Given the description of an element on the screen output the (x, y) to click on. 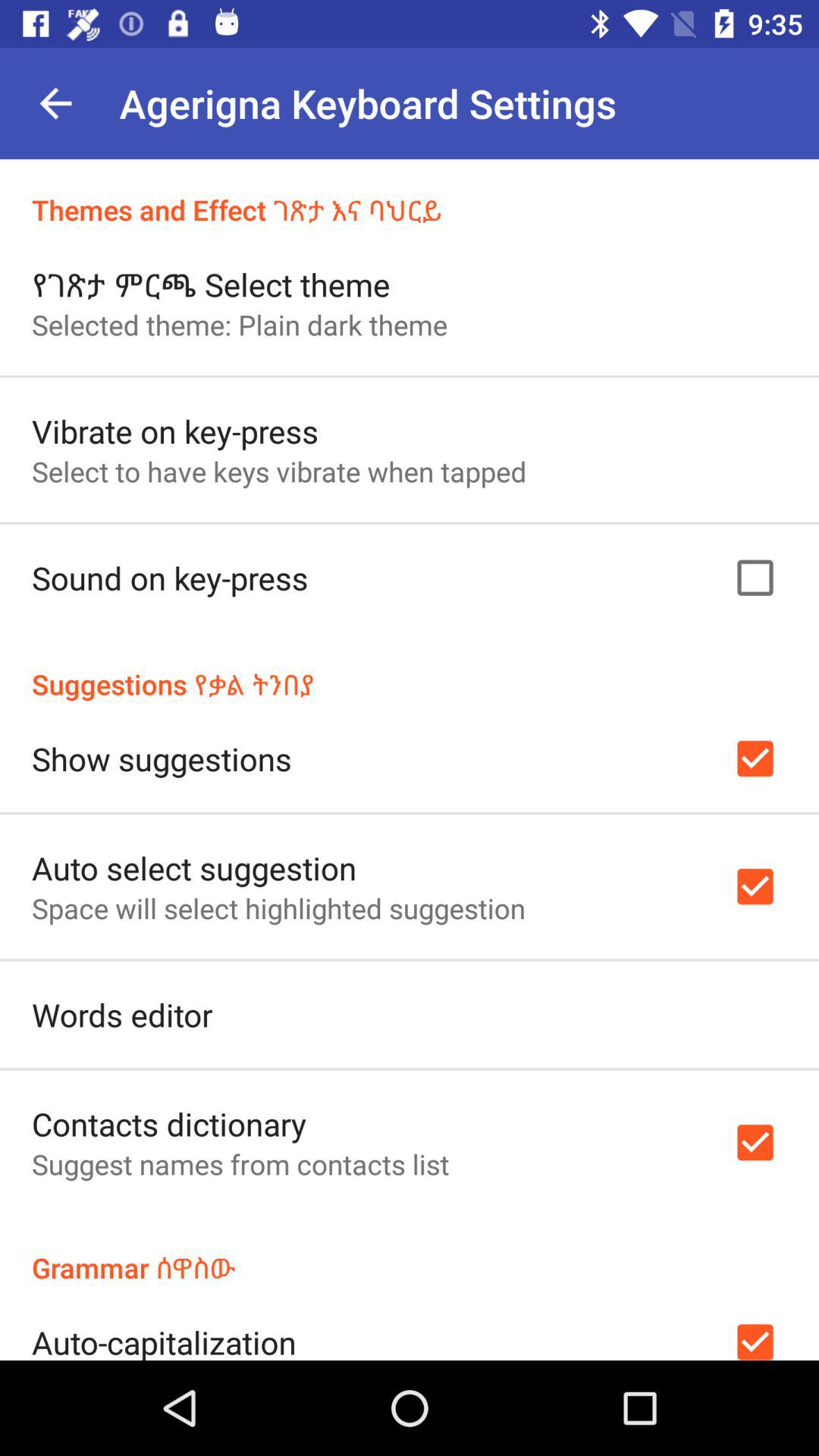
flip until select to have icon (278, 471)
